Given the description of an element on the screen output the (x, y) to click on. 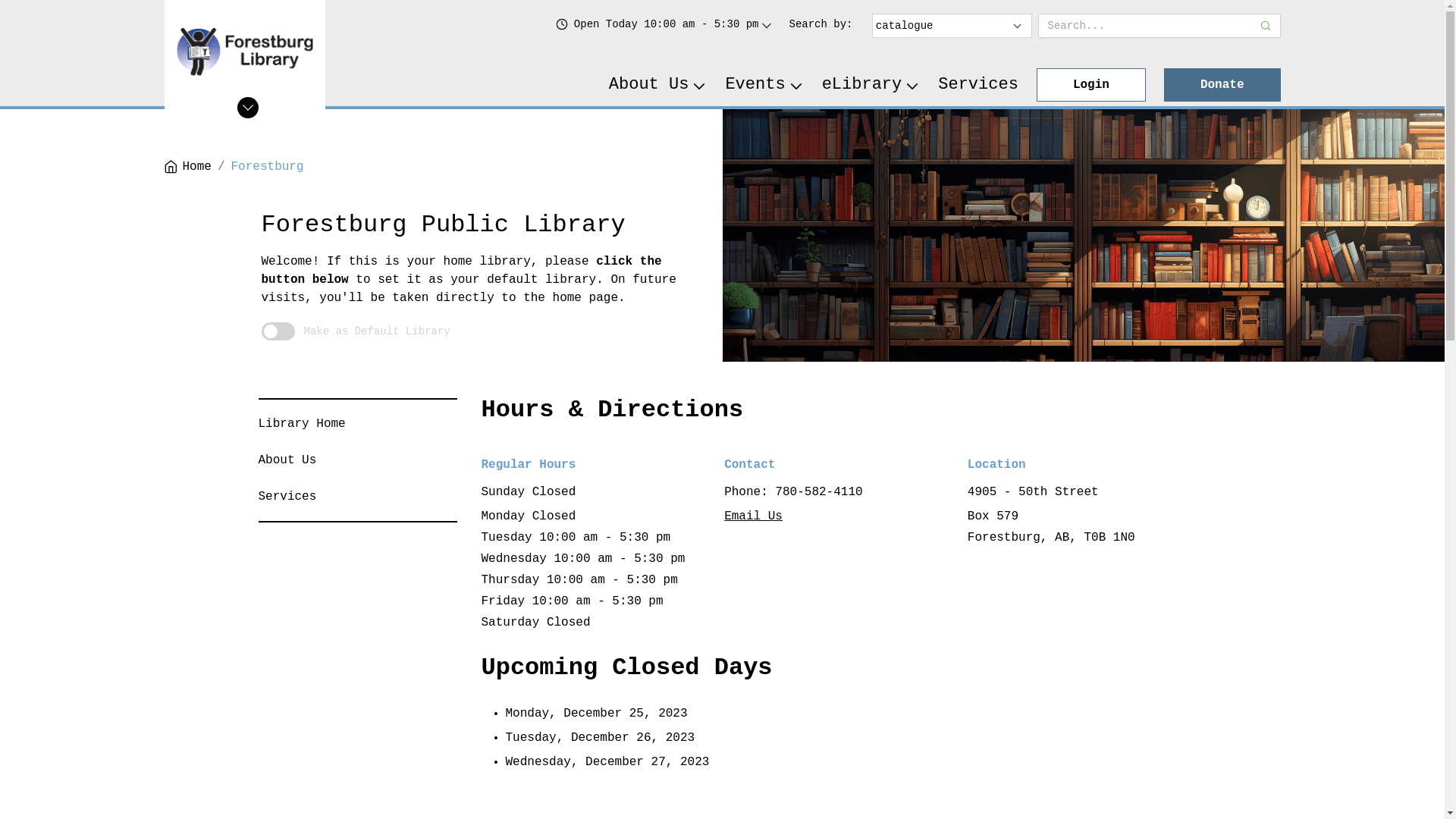
Email Us Element type: text (753, 516)
About Us Element type: text (657, 84)
Services Element type: text (286, 496)
Home Element type: text (186, 166)
Services Element type: text (978, 84)
Donate Element type: text (1222, 84)
Login Element type: text (1090, 84)
About Us Element type: text (286, 460)
Events Element type: text (763, 84)
Library Home Element type: text (301, 423)
eLibrary Element type: text (871, 84)
Forestburg Element type: text (267, 166)
